Given the description of an element on the screen output the (x, y) to click on. 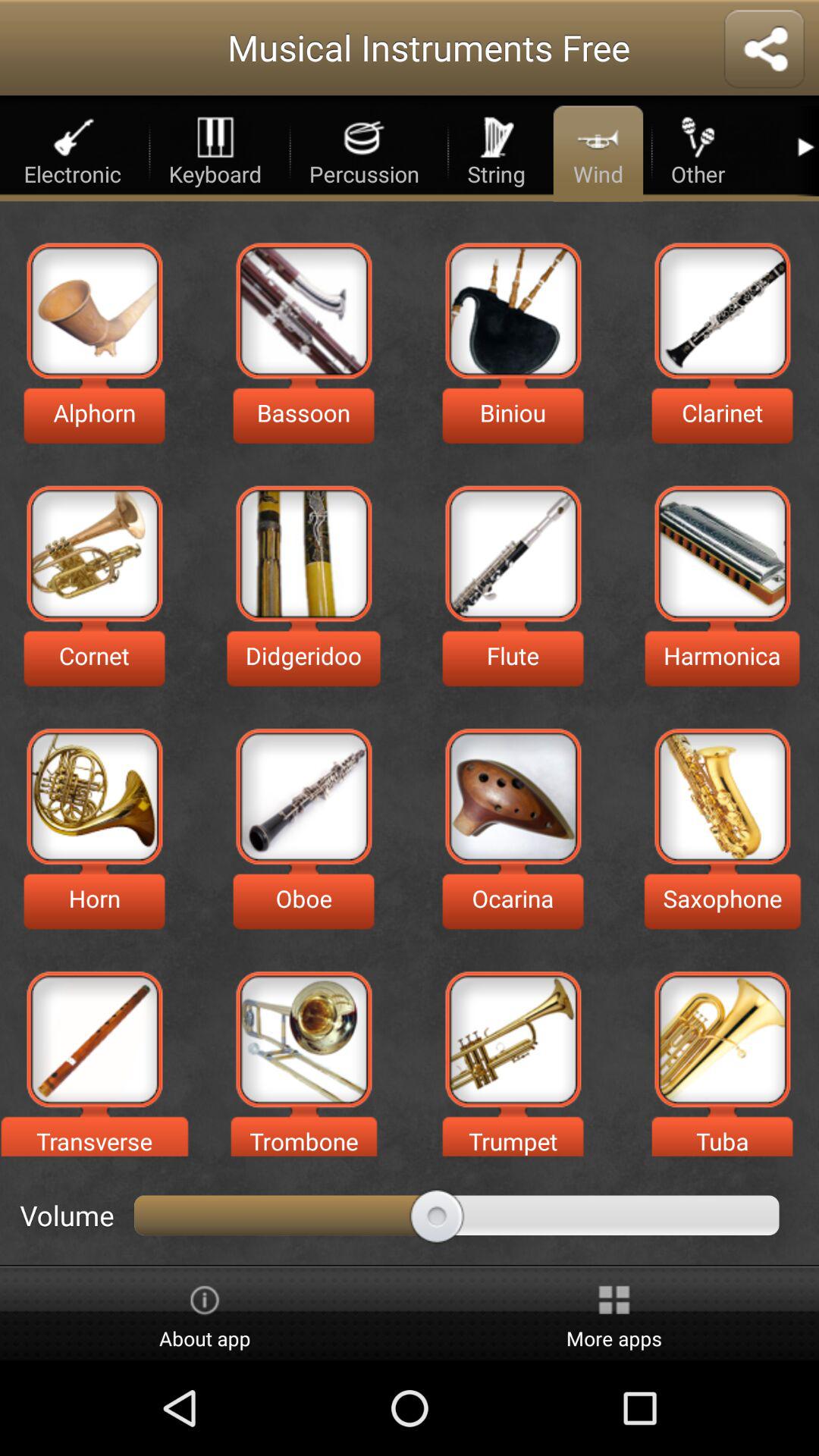
click the musical instrument (722, 310)
